Given the description of an element on the screen output the (x, y) to click on. 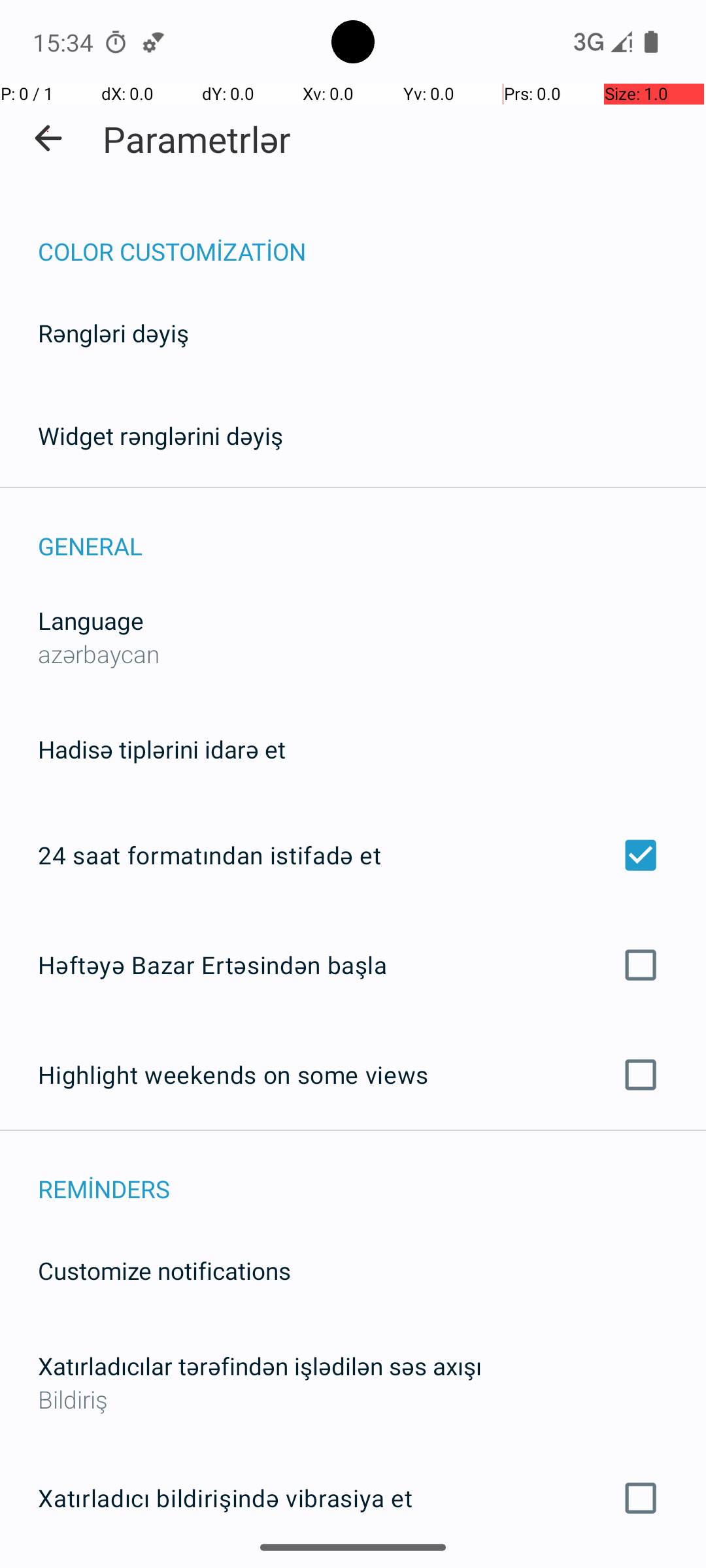
Parametrlər Element type: android.widget.TextView (196, 138)
COLOR CUSTOMİZATİON Element type: android.widget.TextView (371, 237)
REMİNDERS Element type: android.widget.TextView (371, 1174)
Rəngləri dəyiş Element type: android.widget.TextView (112, 332)
Widget rənglərini dəyiş Element type: android.widget.TextView (160, 435)
azərbaycan Element type: android.widget.TextView (98, 653)
Hadisə tiplərini idarə et Element type: android.widget.TextView (161, 748)
24 saat formatından istifadə et Element type: android.widget.CheckBox (352, 855)
Həftəyə Bazar Ertəsindən başla Element type: android.widget.CheckBox (352, 964)
Xatırladıcılar tərəfindən işlədilən səs axışı Element type: android.widget.TextView (259, 1365)
Bildiriş Element type: android.widget.TextView (352, 1398)
Xatırladıcı bildirişində vibrasiya et Element type: android.widget.CheckBox (352, 1497)
Buraxılana qədər xatırladıcıları təkrarla Element type: android.widget.CheckBox (352, 1567)
